Given the description of an element on the screen output the (x, y) to click on. 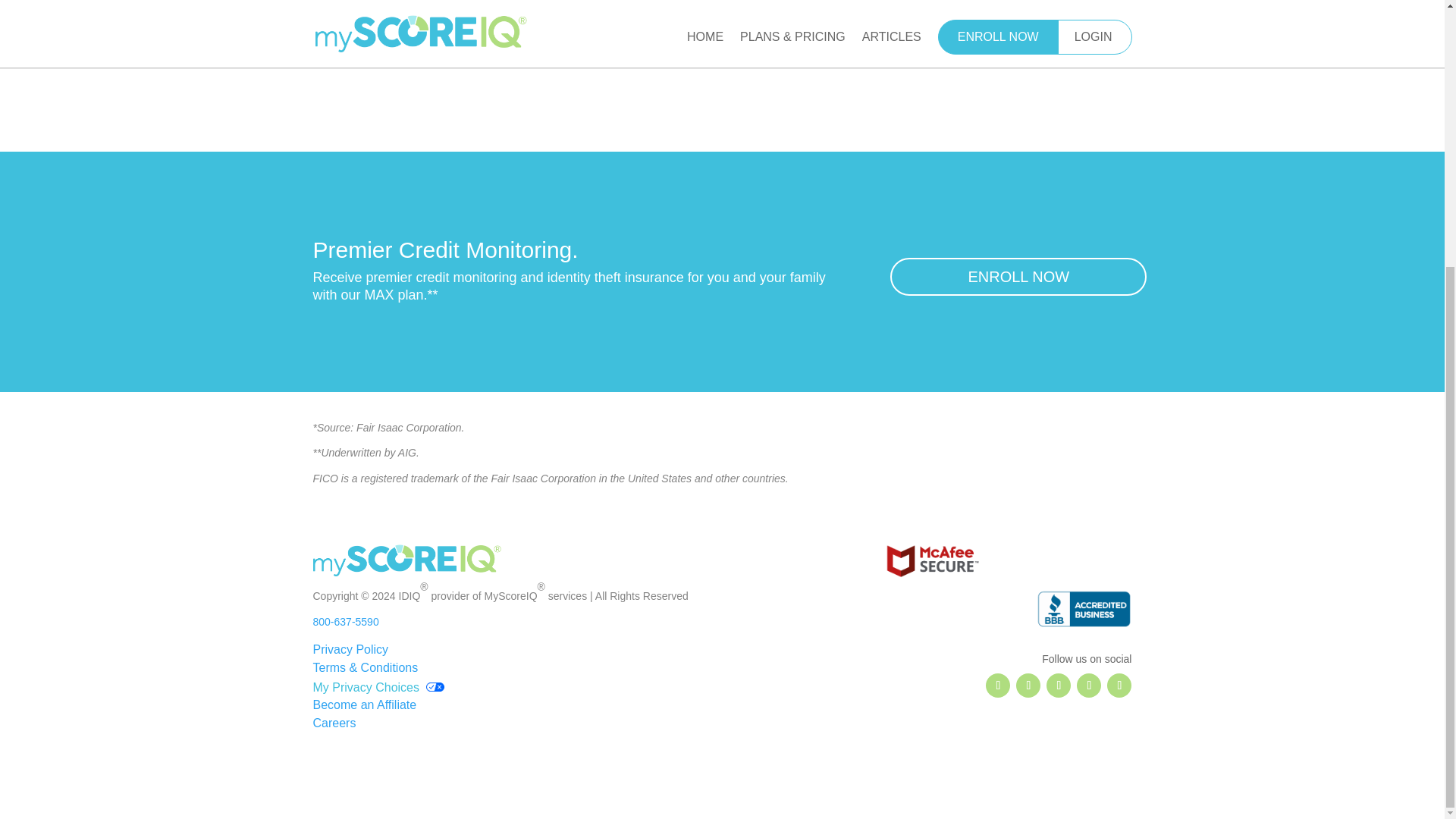
Follow on X (1028, 685)
My Privacy Choices (378, 685)
Follow on TikTok (1088, 685)
GO BACK TO OUR ARTICLES (722, 44)
Privacy Policy (350, 649)
ENROLL NOW (1018, 276)
Follow on Facebook (997, 685)
800-637-5590 (345, 621)
Careers (334, 722)
Become an Affiliate (364, 704)
